Given the description of an element on the screen output the (x, y) to click on. 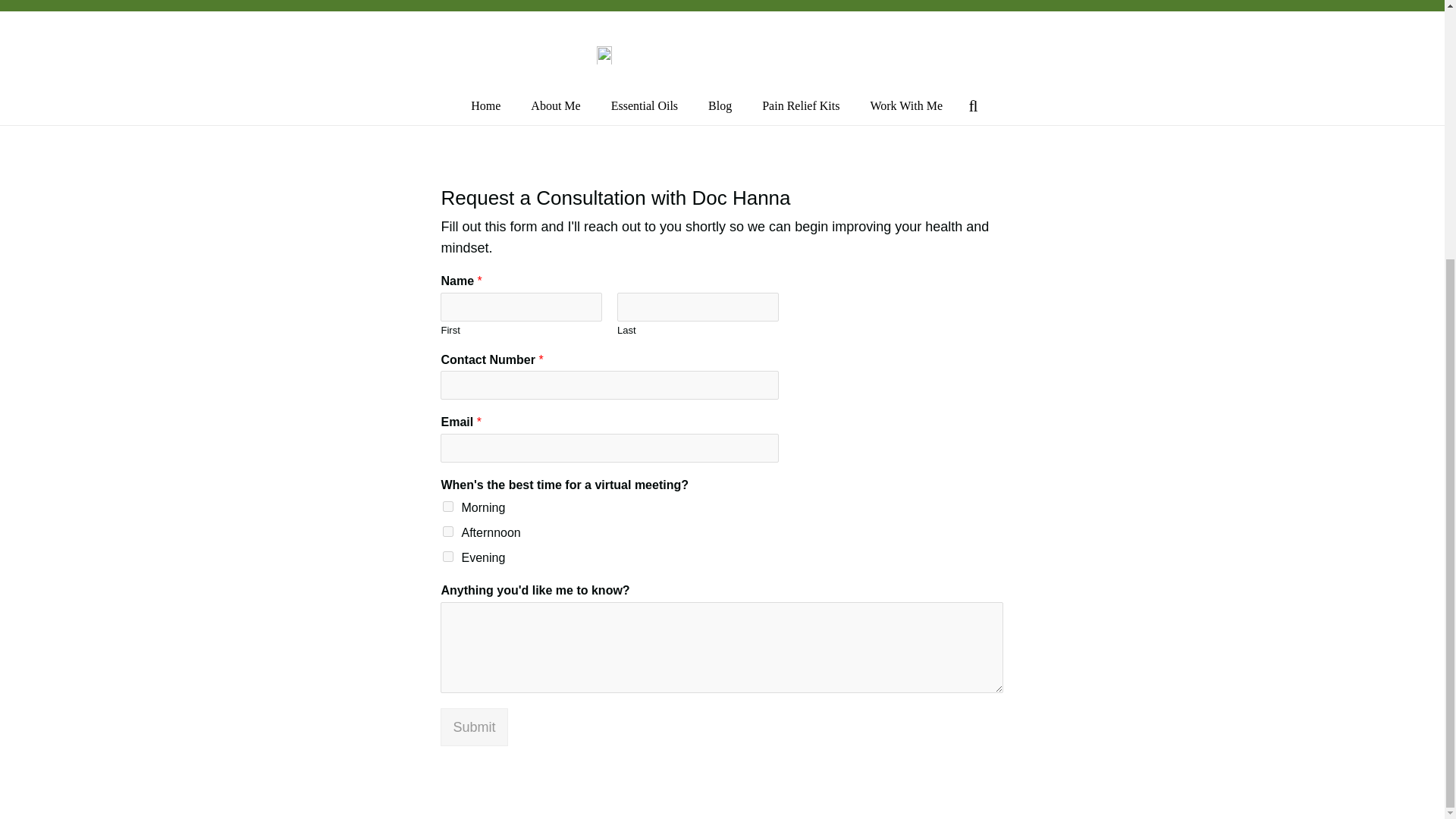
Morning (447, 506)
Evening (447, 556)
Afternnoon (447, 531)
Submit (473, 727)
